Given the description of an element on the screen output the (x, y) to click on. 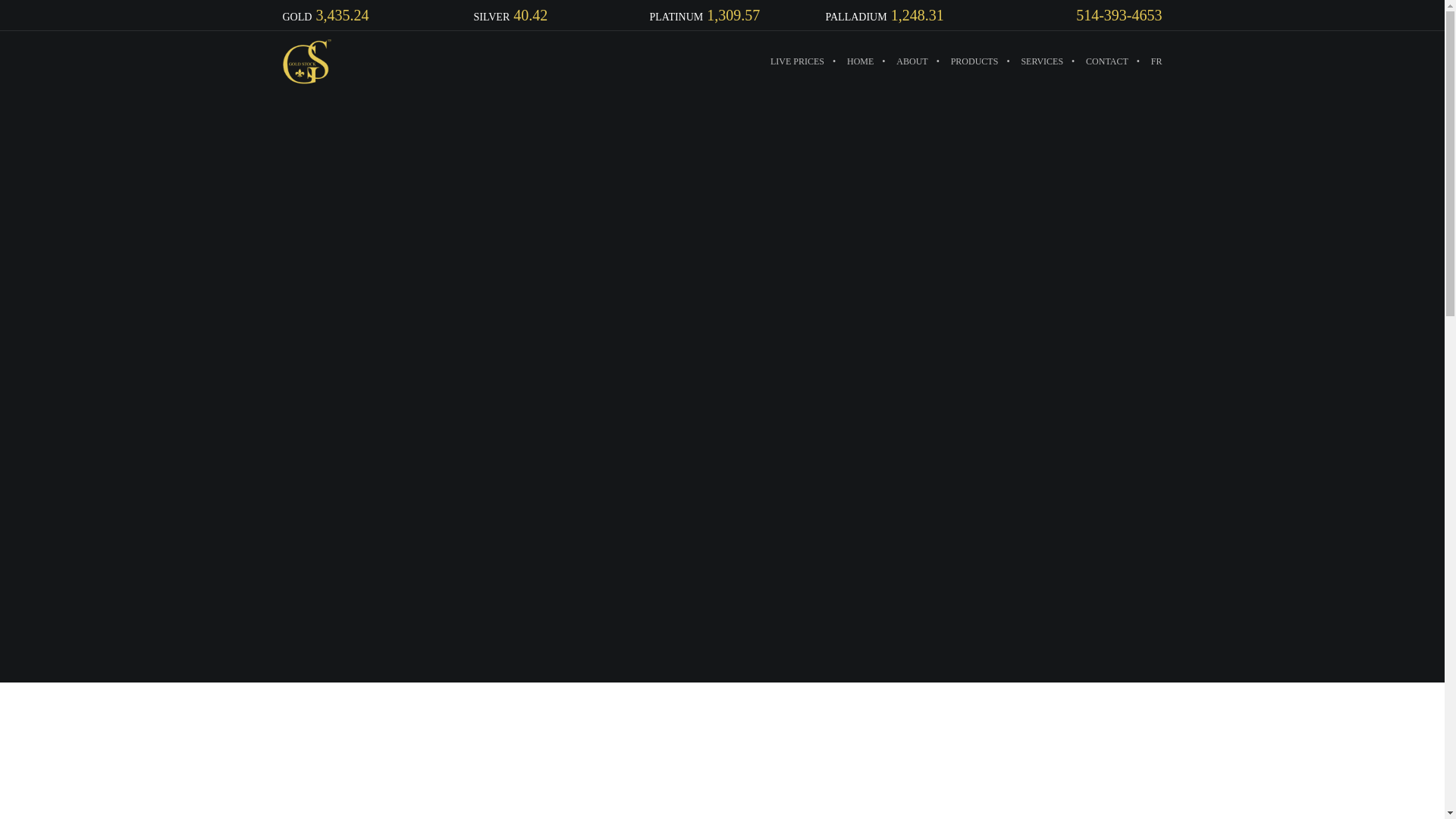
CONTACT (1107, 61)
SERVICES (1041, 61)
LIVE PRICES (796, 61)
PRODUCTS (974, 61)
